Given the description of an element on the screen output the (x, y) to click on. 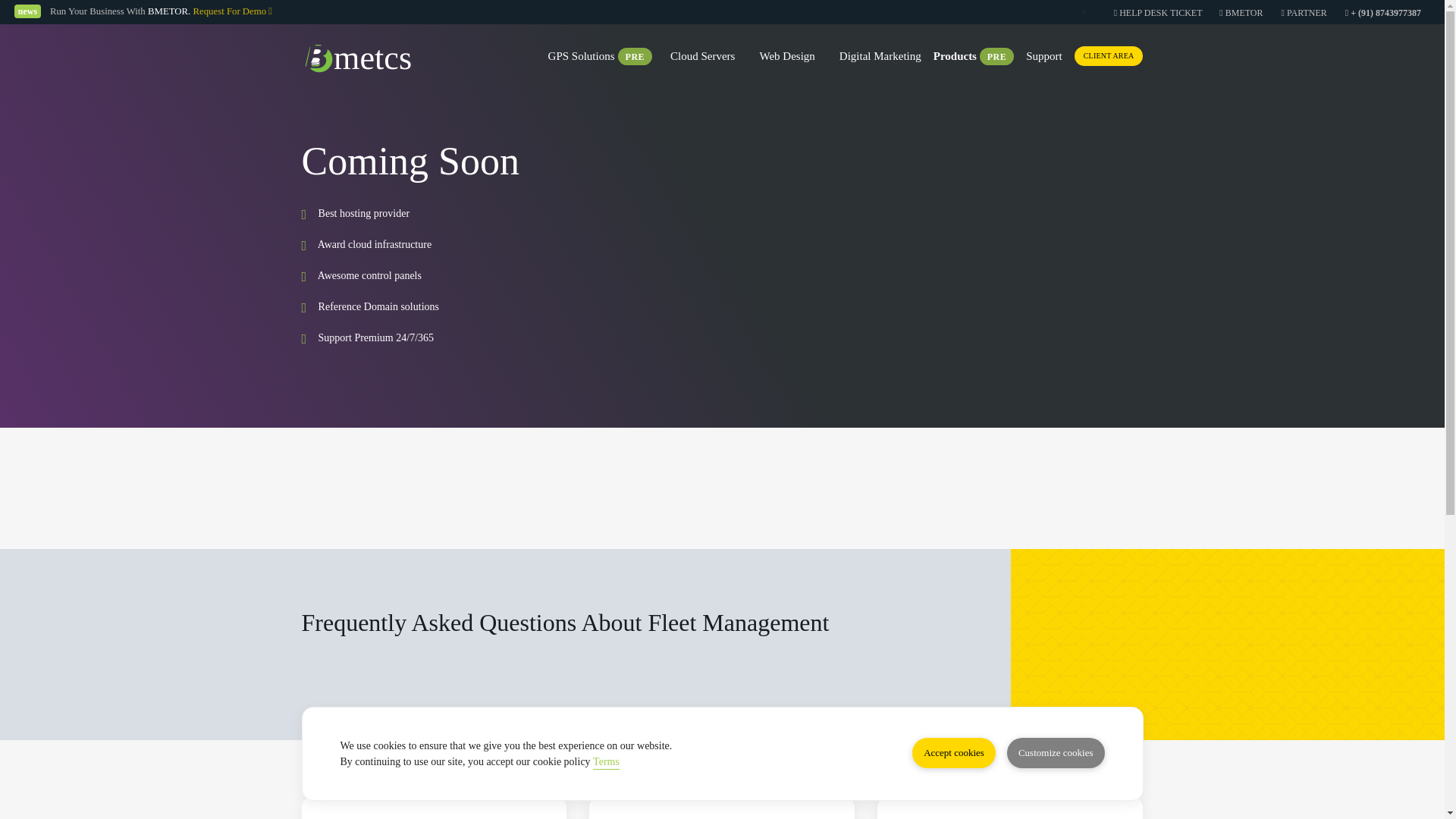
Request For Demo (232, 10)
Web Design (785, 58)
HELP DESK TICKET (1159, 12)
BMETOR (1241, 12)
GPS Solutions (581, 58)
Cloud Servers (702, 58)
PARTNER (1303, 12)
Digital Marketing (880, 58)
BMETOR. (169, 10)
